Given the description of an element on the screen output the (x, y) to click on. 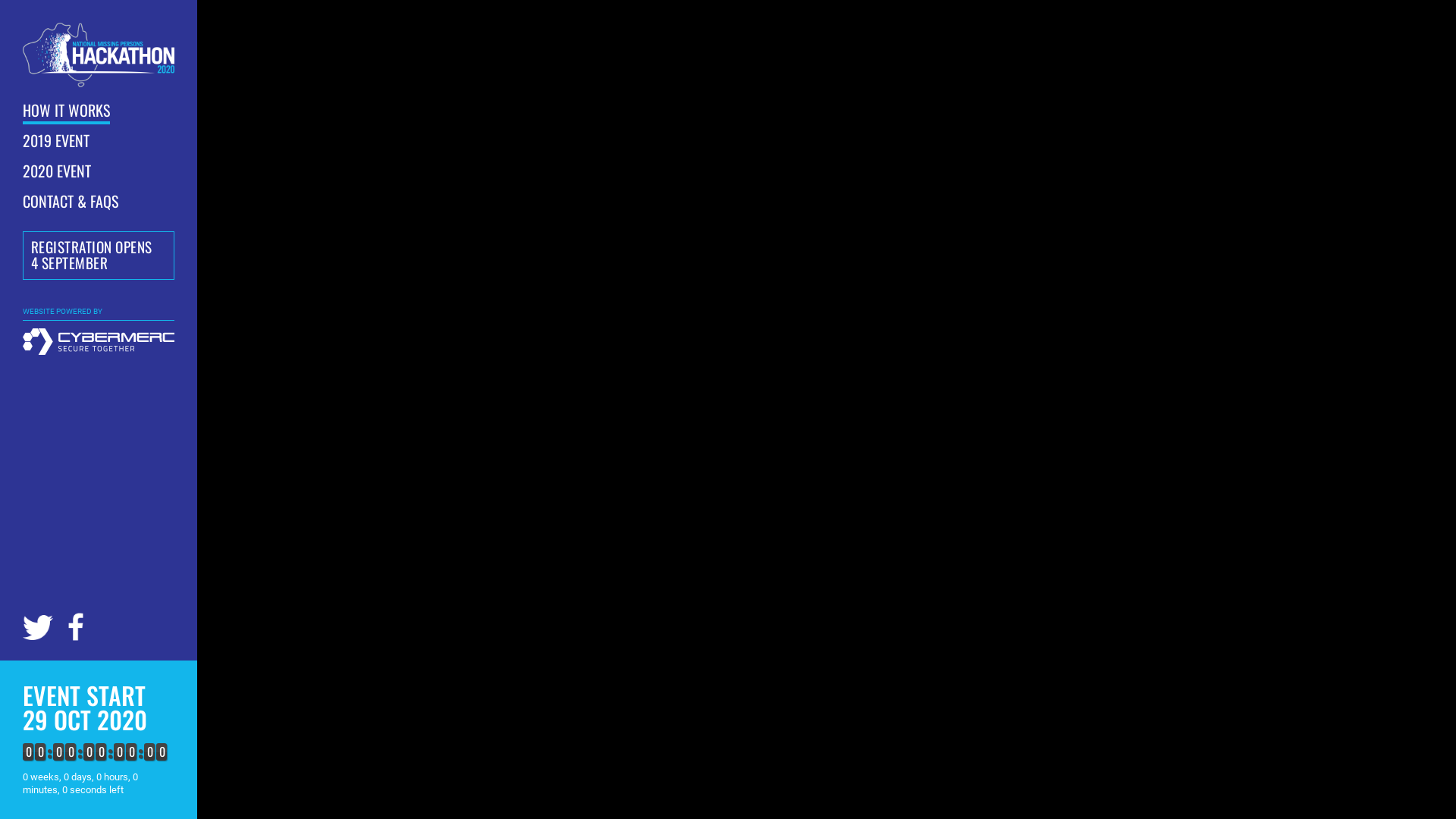
Skip to main content Element type: text (0, 0)
2019 EVENT Element type: text (55, 141)
2020 EVENT Element type: text (56, 172)
HOW IT WORKS Element type: text (65, 111)
REGISTRATION OPENS 4 SEPTEMBER Element type: text (98, 255)
CONTACT & FAQS Element type: text (70, 202)
